Given the description of an element on the screen output the (x, y) to click on. 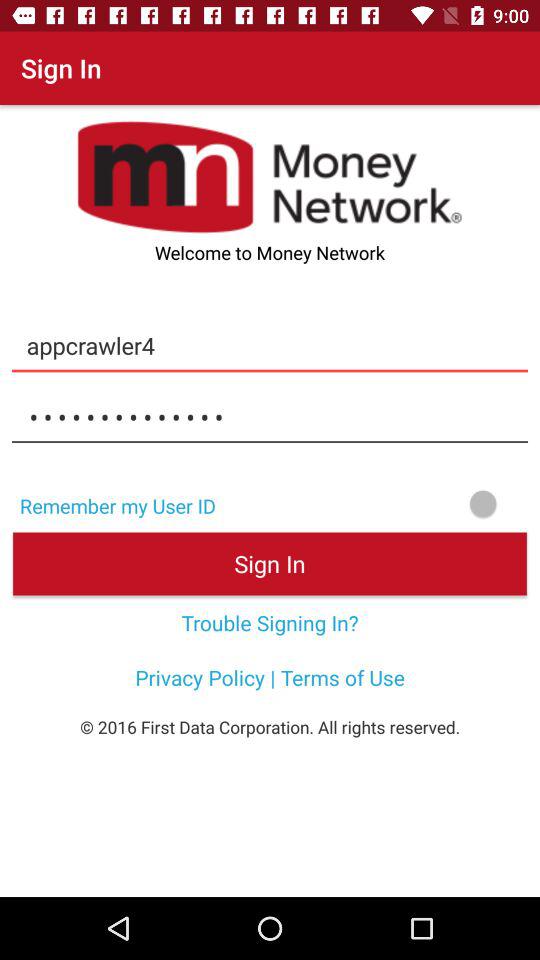
flip to trouble signing in? item (270, 622)
